Given the description of an element on the screen output the (x, y) to click on. 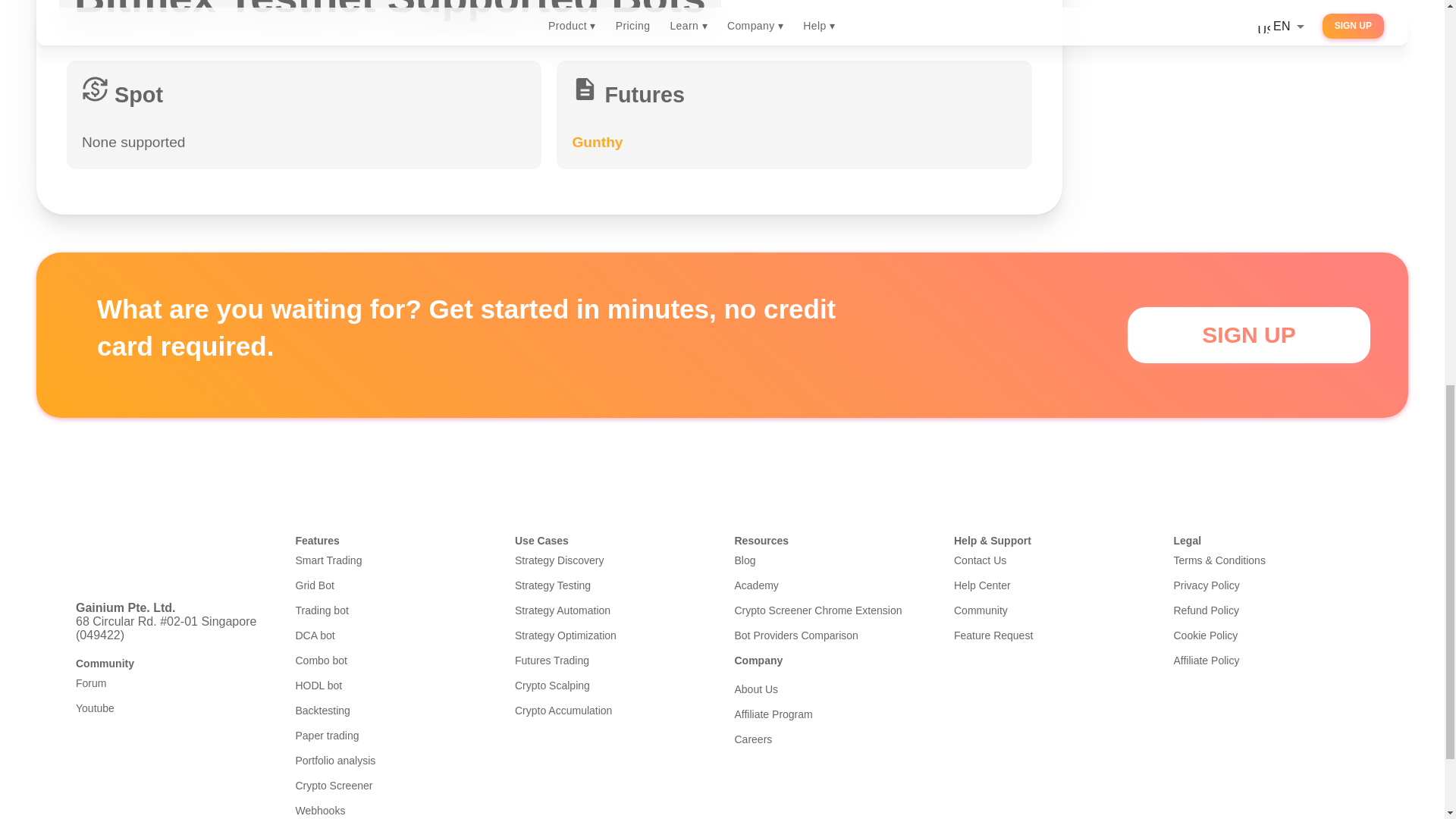
Crypto Screener (393, 785)
Forum (172, 683)
Trading bot (393, 610)
Strategy Discovery (612, 560)
Backtesting (393, 710)
Strategy Automation (612, 610)
Blog (831, 560)
Webhooks (393, 810)
Youtube (172, 707)
Paper trading (393, 735)
DCA bot (393, 635)
SIGN UP (1248, 338)
SIGN UP (1248, 335)
Academy (831, 585)
Strategy Optimization (612, 635)
